Given the description of an element on the screen output the (x, y) to click on. 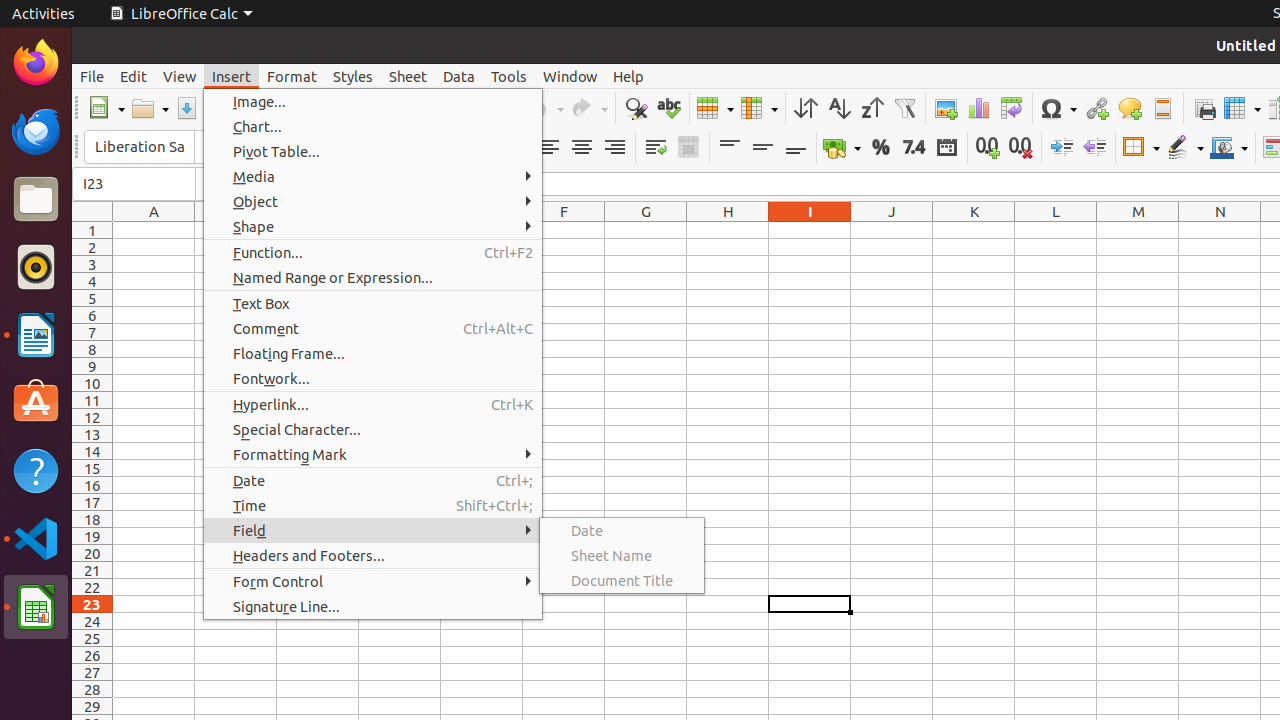
Symbol Element type: push-button (1058, 108)
Date Element type: push-button (946, 147)
Align Right Element type: push-button (614, 147)
Time Element type: menu-item (373, 505)
Date Element type: menu-item (622, 530)
